Given the description of an element on the screen output the (x, y) to click on. 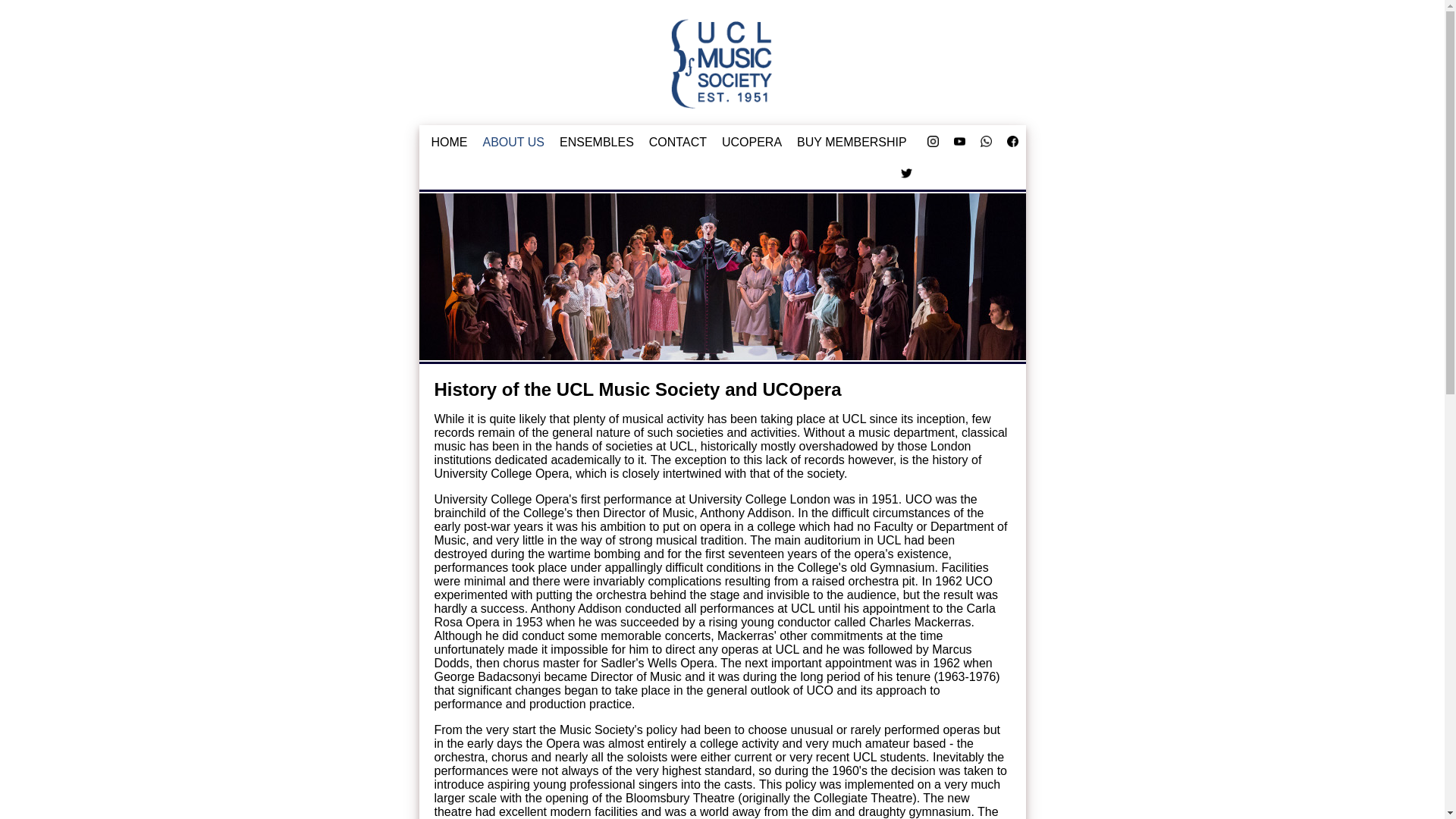
HOME (448, 141)
ABOUT US (512, 141)
ENSEMBLES (596, 141)
CONTACT (678, 141)
BUY MEMBERSHIP (851, 141)
UCOPERA (751, 141)
